Given the description of an element on the screen output the (x, y) to click on. 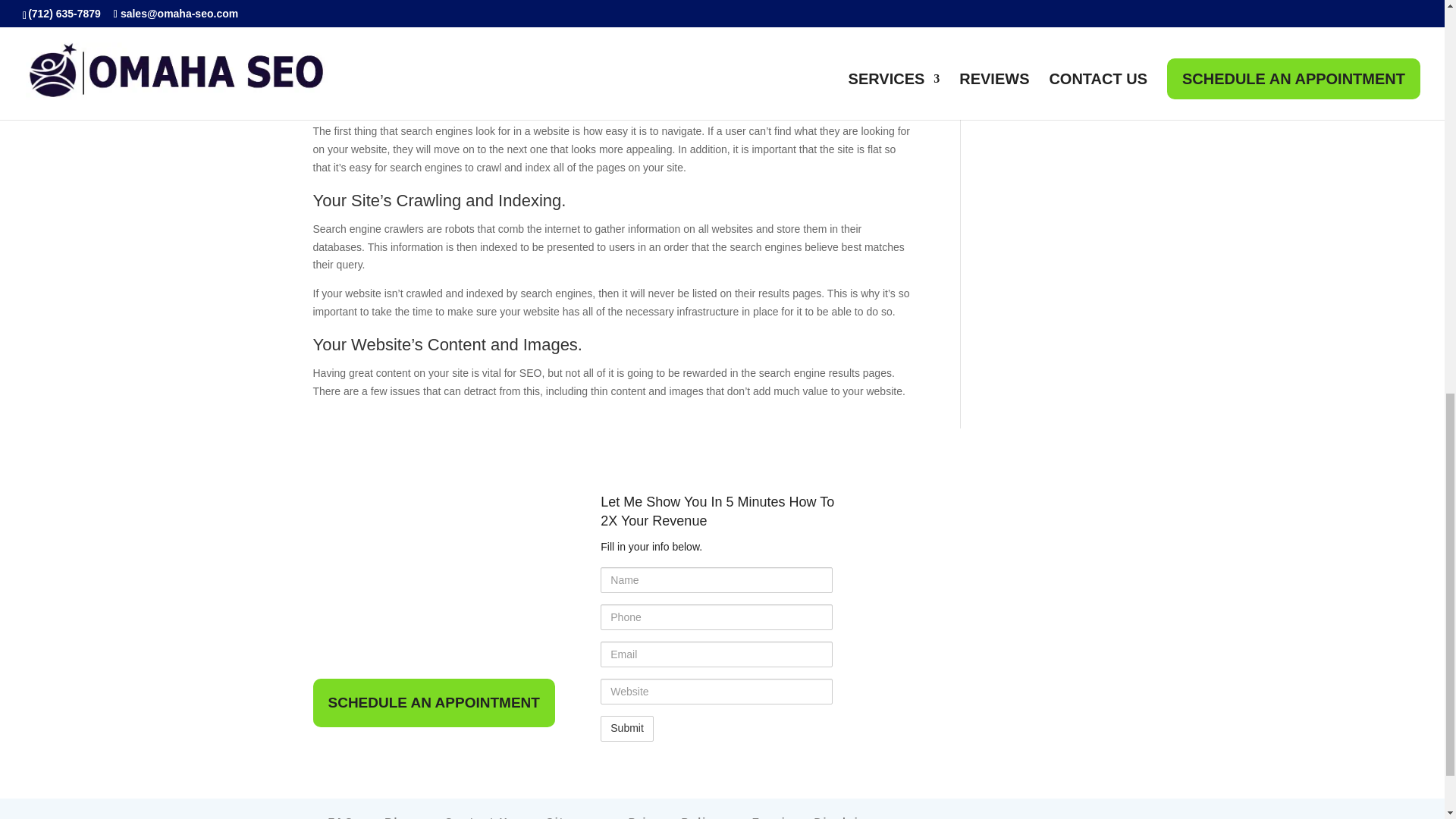
Privacy Policy (675, 817)
Contact Us (479, 817)
Submit (626, 728)
Submit (626, 728)
Sitemap (571, 817)
SCHEDULE AN APPOINTMENT (433, 702)
FAQ (340, 817)
Earnings Disclaimer (817, 817)
Blog (398, 817)
